Given the description of an element on the screen output the (x, y) to click on. 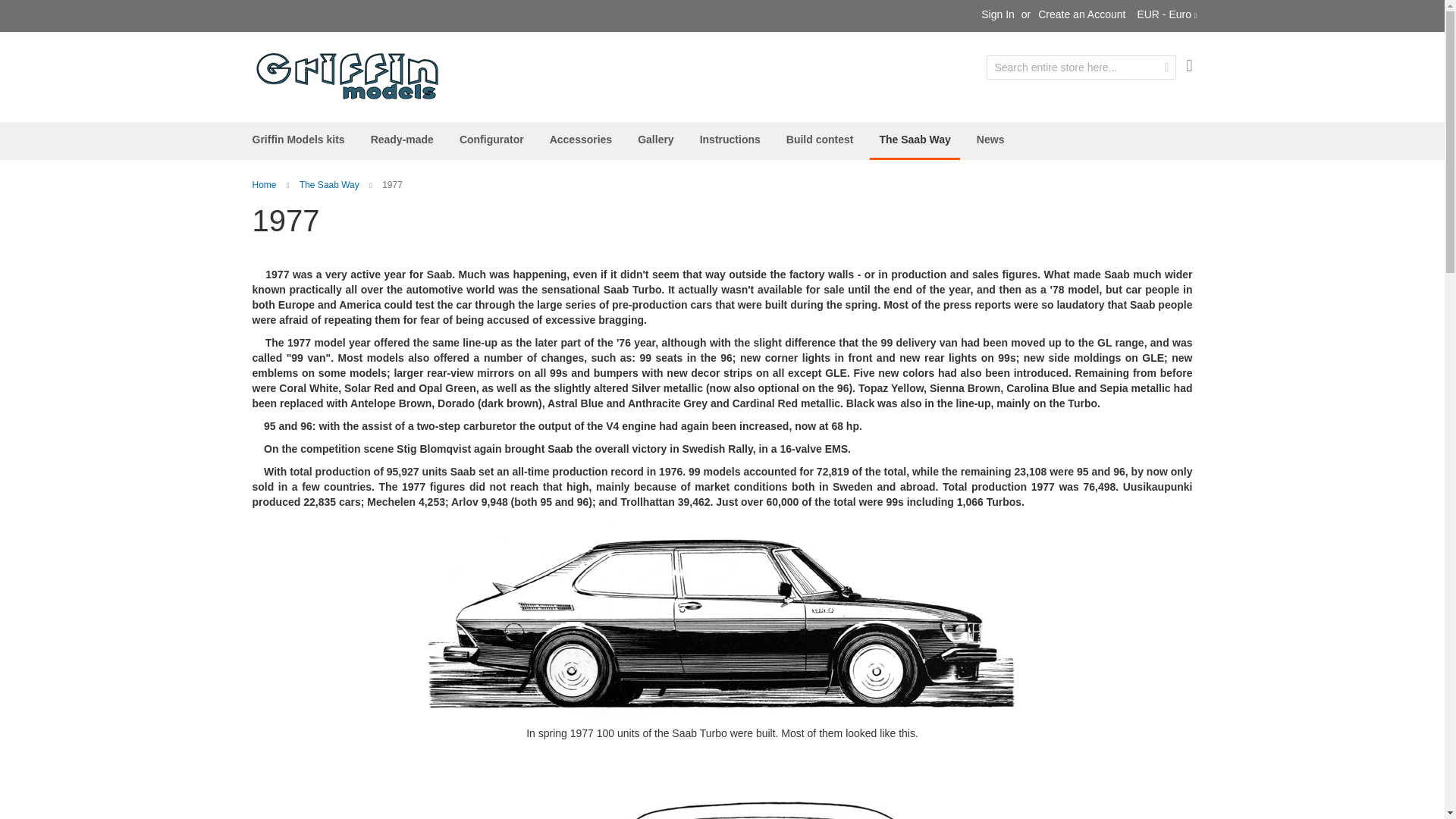
Accessories (580, 139)
Configurator (490, 139)
Griffin Models kits (298, 139)
Gallery (655, 139)
Ready-made (401, 139)
1977 Saab 96 (722, 795)
Go to Home Page (263, 184)
Instructions (730, 139)
Sign In (997, 14)
Create an Account (1081, 14)
1977 Saab 99 Turbo (722, 619)
Griffin Models hand-made scale models (346, 76)
